Given the description of an element on the screen output the (x, y) to click on. 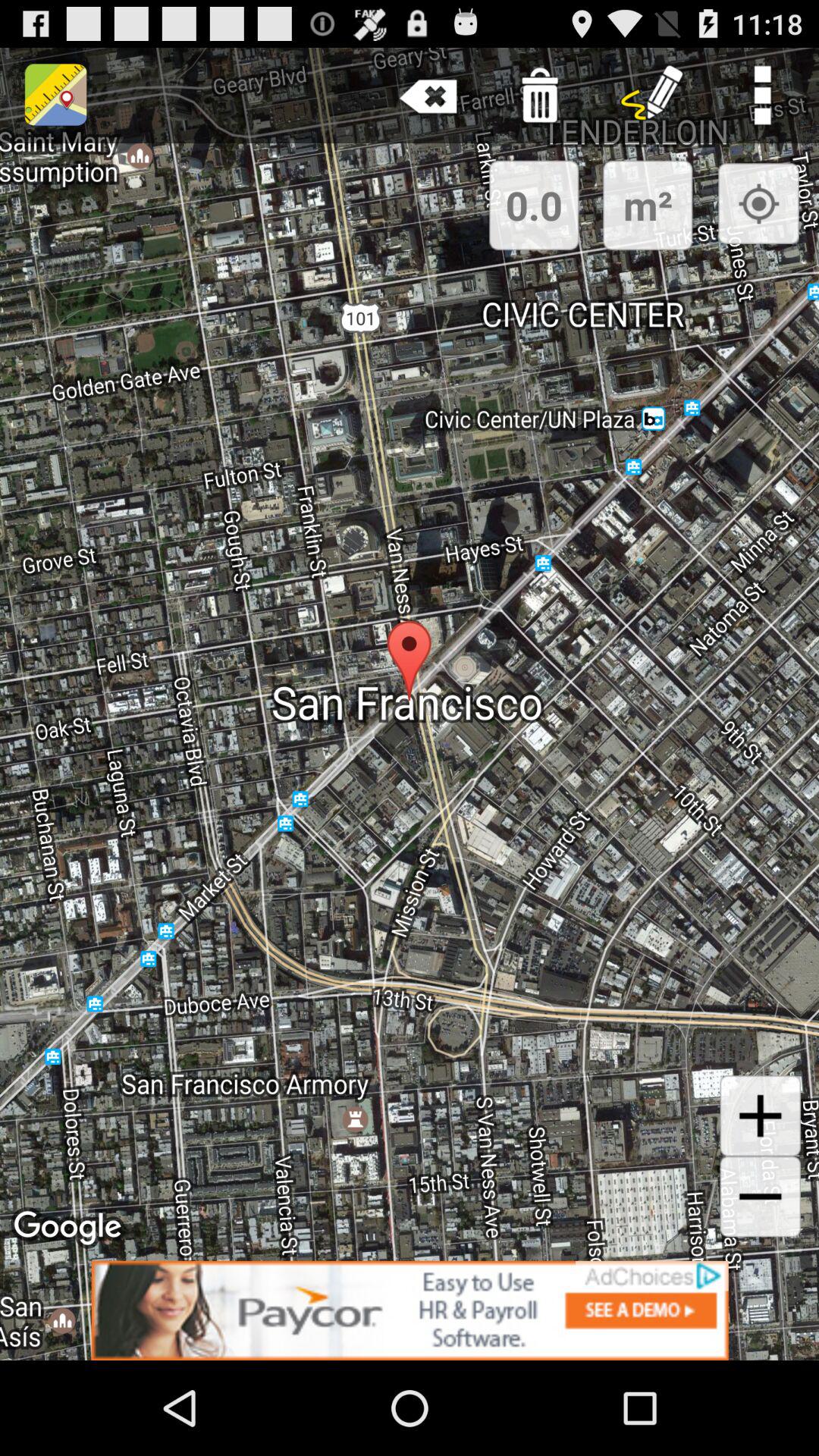
zoom out (760, 1196)
